Given the description of an element on the screen output the (x, y) to click on. 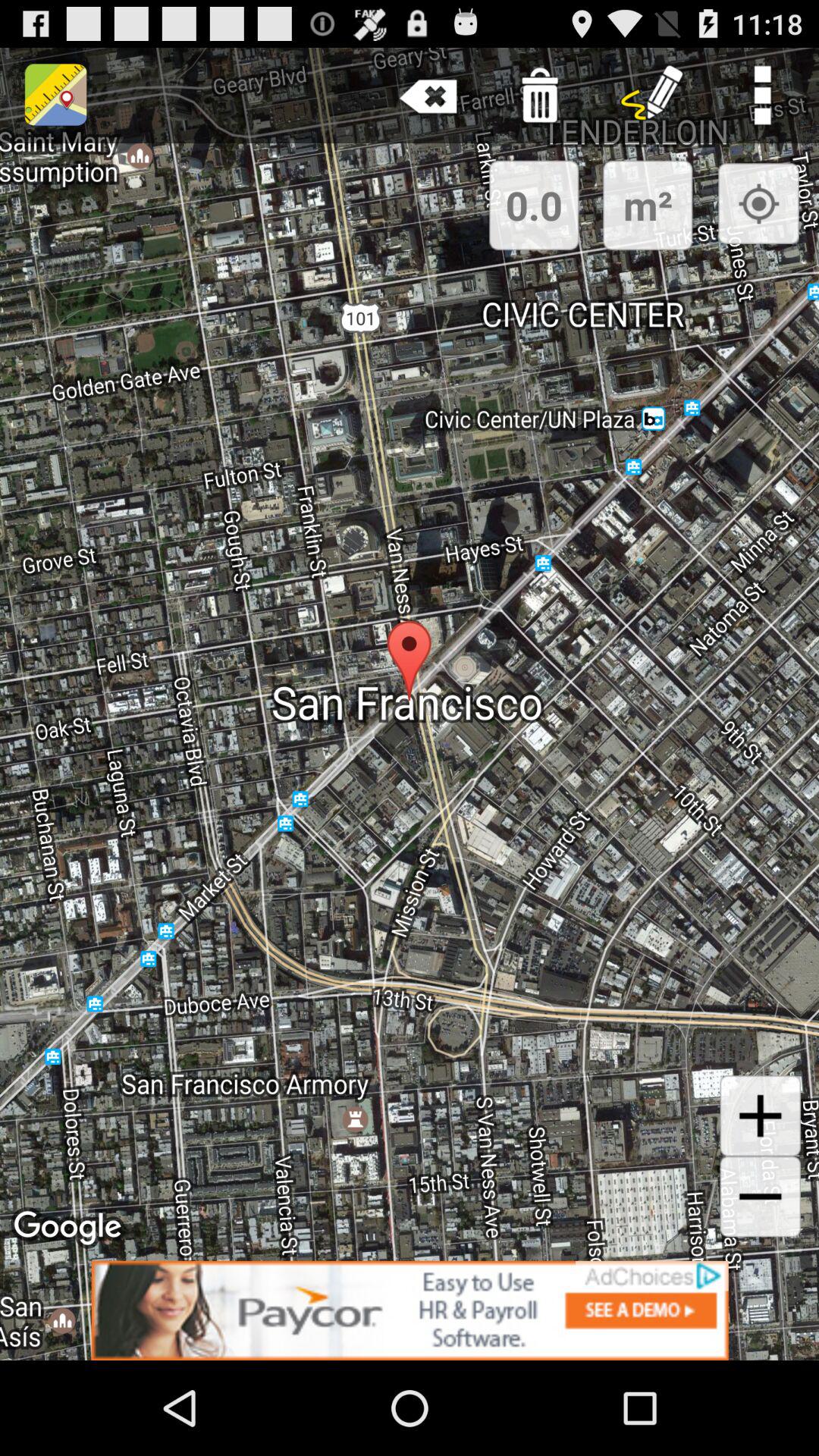
zoom out (760, 1196)
